Given the description of an element on the screen output the (x, y) to click on. 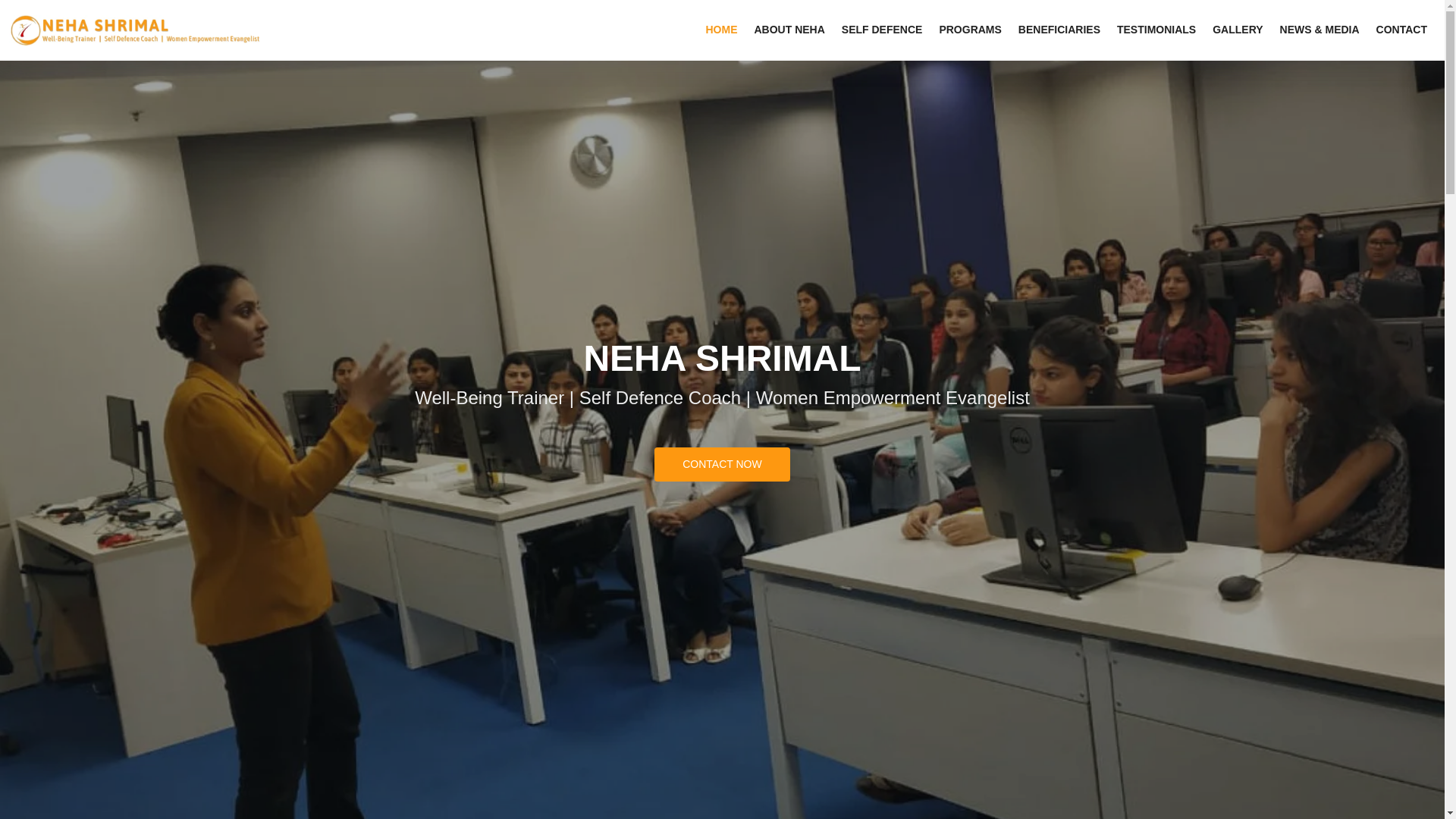
BENEFICIARIES (1059, 29)
TESTIMONIALS (1156, 29)
SELF DEFENCE (882, 29)
HOME (721, 29)
CONTACT (1401, 29)
CONTACT NOW (721, 464)
GALLERY (1237, 29)
ABOUT NEHA (789, 29)
CONTACT NOW (721, 464)
PROGRAMS (969, 29)
